Given the description of an element on the screen output the (x, y) to click on. 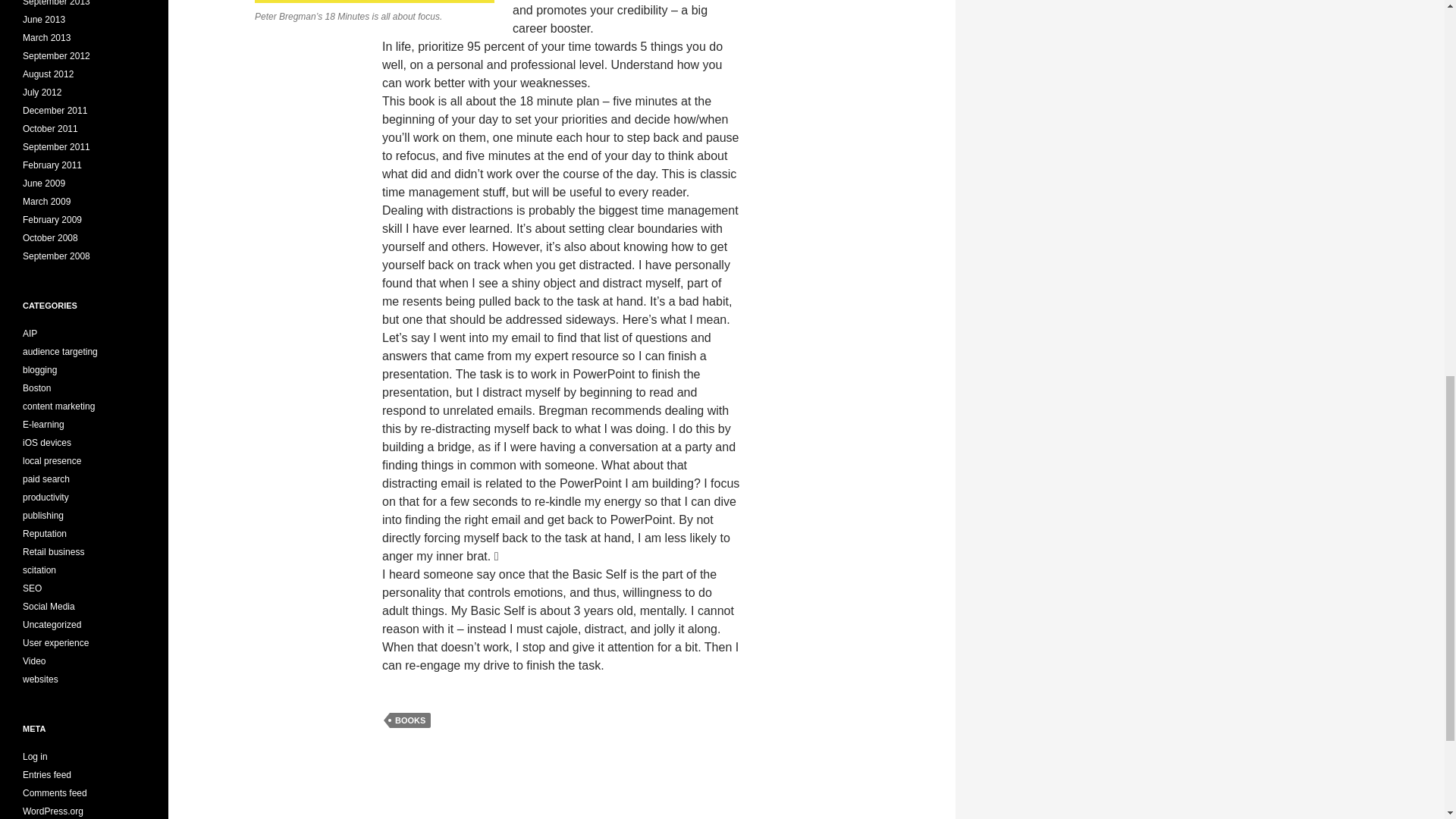
October 2011 (50, 128)
June 2013 (44, 19)
September 2011 (56, 146)
September 2012 (56, 55)
March 2013 (46, 37)
August 2012 (48, 73)
BOOKS (410, 720)
July 2012 (42, 91)
December 2011 (55, 110)
September 2013 (56, 3)
